Given the description of an element on the screen output the (x, y) to click on. 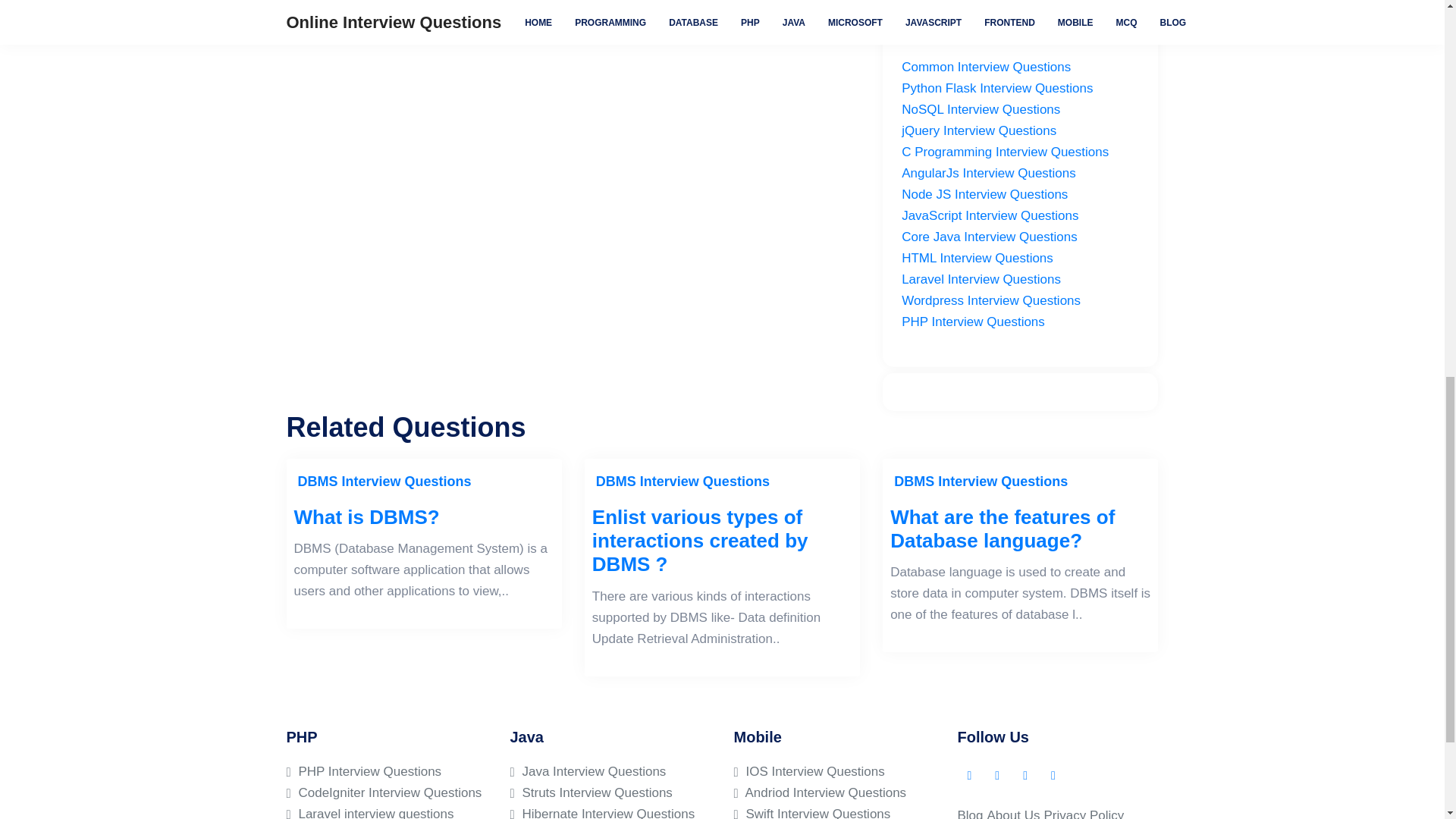
What are the features of Database language? (1019, 529)
NoSQL Interview Questions (980, 109)
Enlist various types of interactions created by DBMS ? (721, 541)
Login (345, 17)
Python Flask Interview Questions (997, 88)
Register (402, 17)
Common Interview Questions (985, 66)
What is DBMS? (424, 517)
jQuery Interview Questions (979, 130)
